Given the description of an element on the screen output the (x, y) to click on. 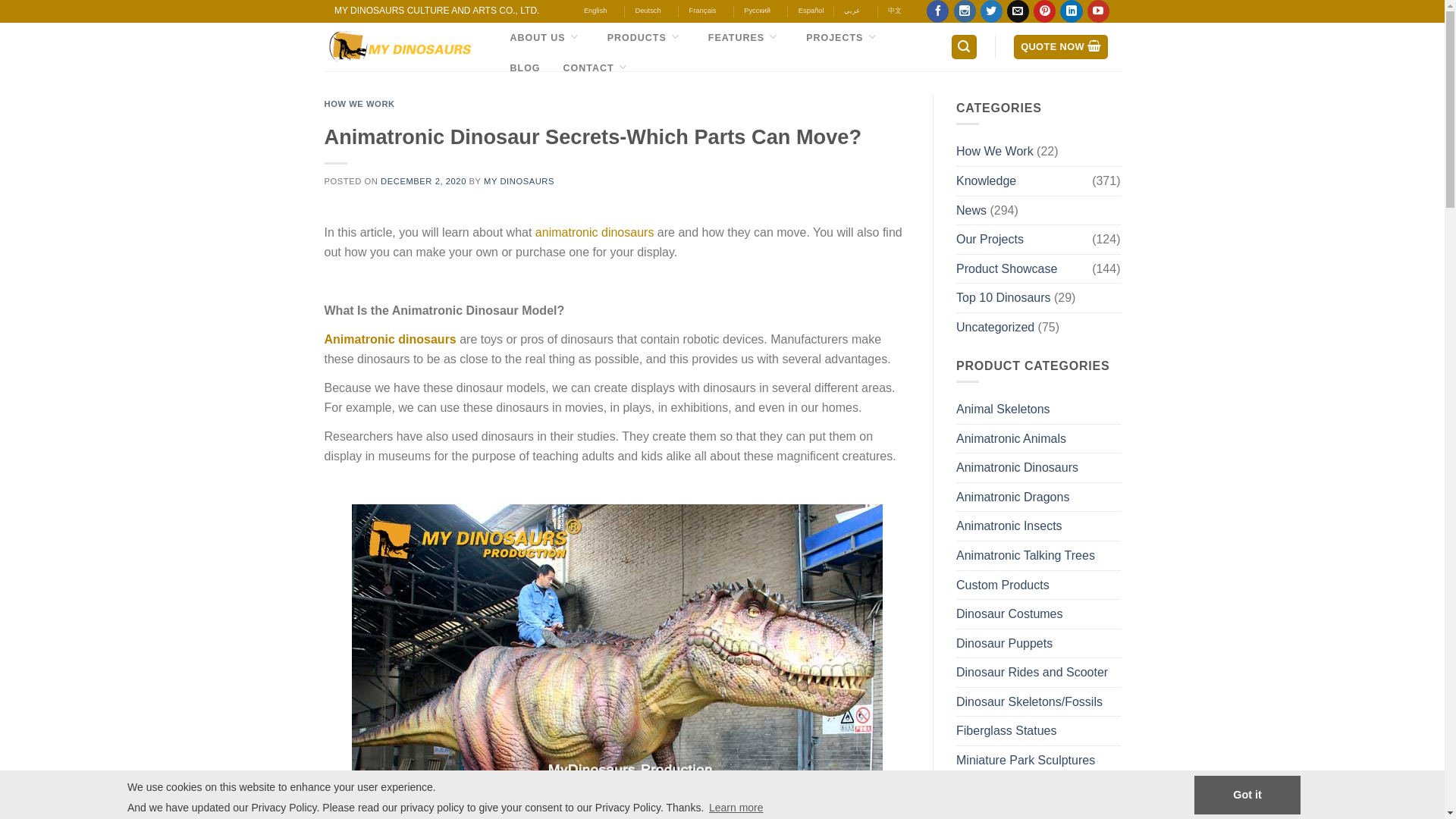
Got it (1246, 794)
Deutsch (647, 10)
Learn more (735, 807)
Our Projects (1024, 239)
ABOUT US (536, 37)
Cart (1059, 47)
News (971, 210)
PRODUCTS (636, 37)
English (595, 10)
